Given the description of an element on the screen output the (x, y) to click on. 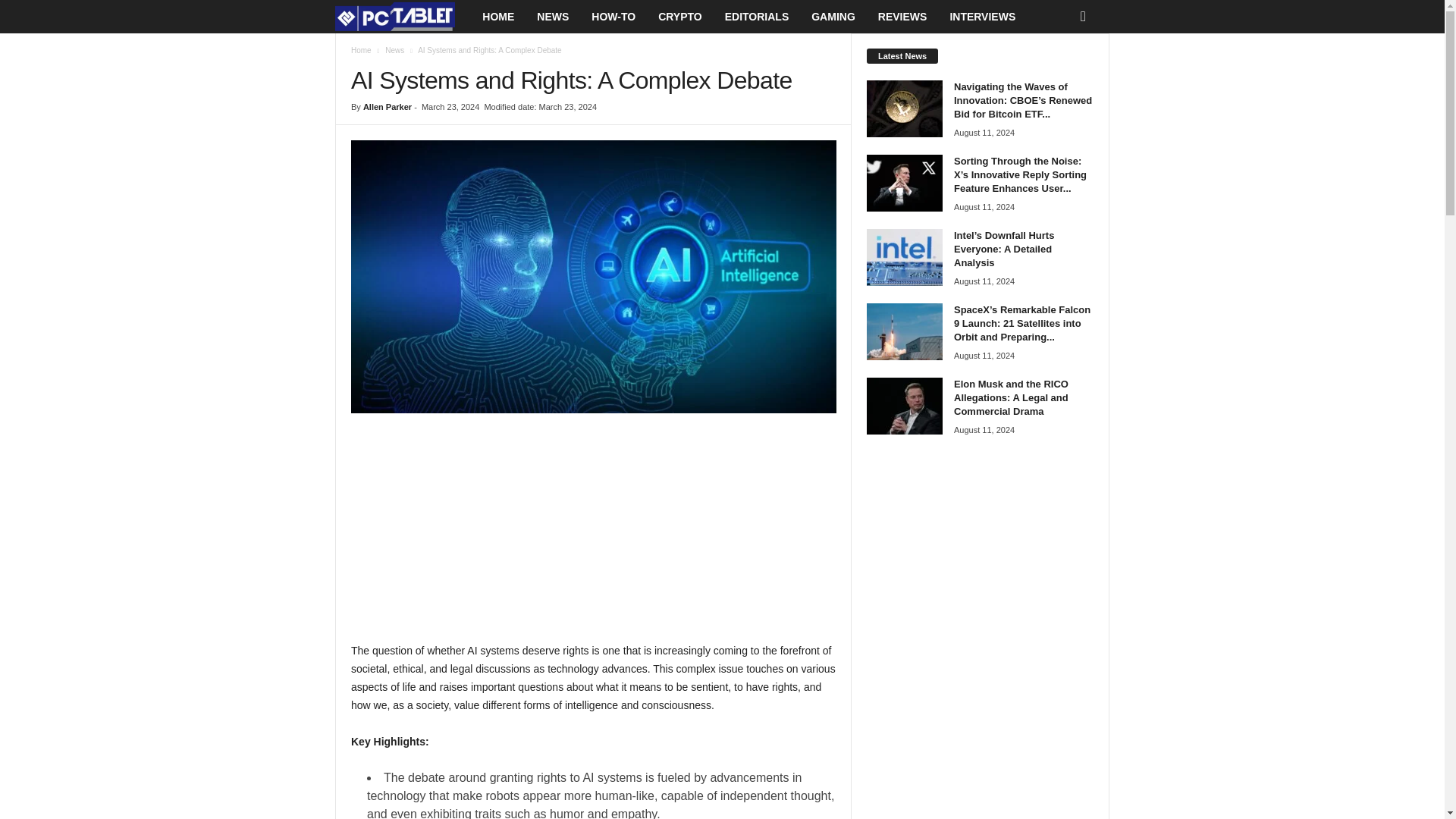
GAMING (832, 16)
Advertisement (592, 535)
PC-Tablet.com (402, 17)
View all posts in News (394, 49)
AI Systems and Rights (592, 276)
INTERVIEWS (981, 16)
REVIEWS (902, 16)
HOME (497, 16)
CRYPTO (679, 16)
Home (360, 49)
